Given the description of an element on the screen output the (x, y) to click on. 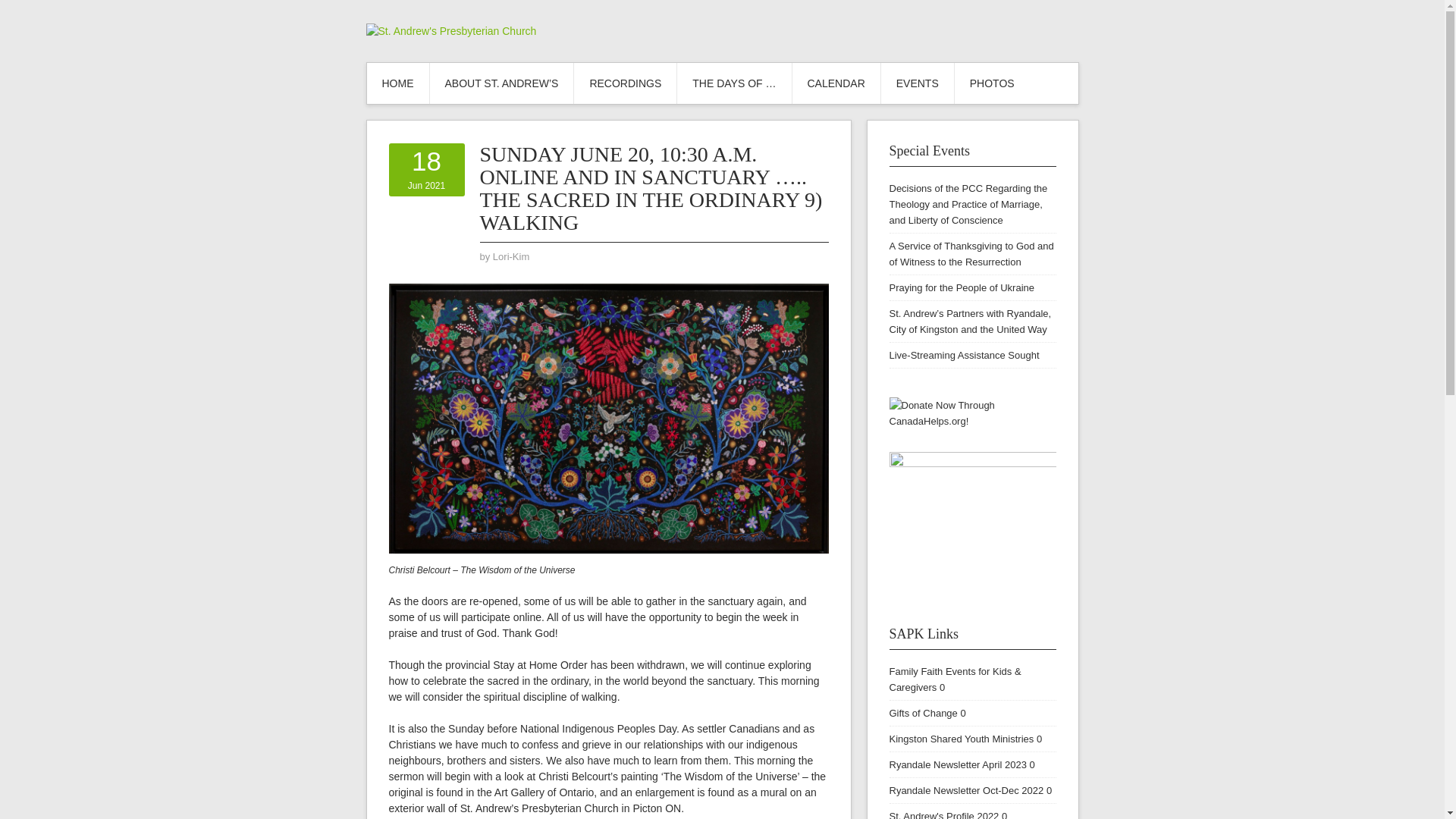
Praying for the People of Ukraine (960, 287)
Lori-Kim (511, 256)
CALENDAR (835, 83)
PHOTOS (992, 83)
Gifts of Change (922, 713)
HOME (397, 83)
June 18, 2021 5:18 pm (426, 169)
Kingston Shared Youth Ministries (960, 738)
Ryandale Newsletter April 2023 (957, 764)
Special Events (928, 150)
Live-Streaming Assistance Sought (963, 355)
by Lori-Kim (511, 256)
Ryandale Newsletter Oct-Dec 2022 (965, 790)
